Given the description of an element on the screen output the (x, y) to click on. 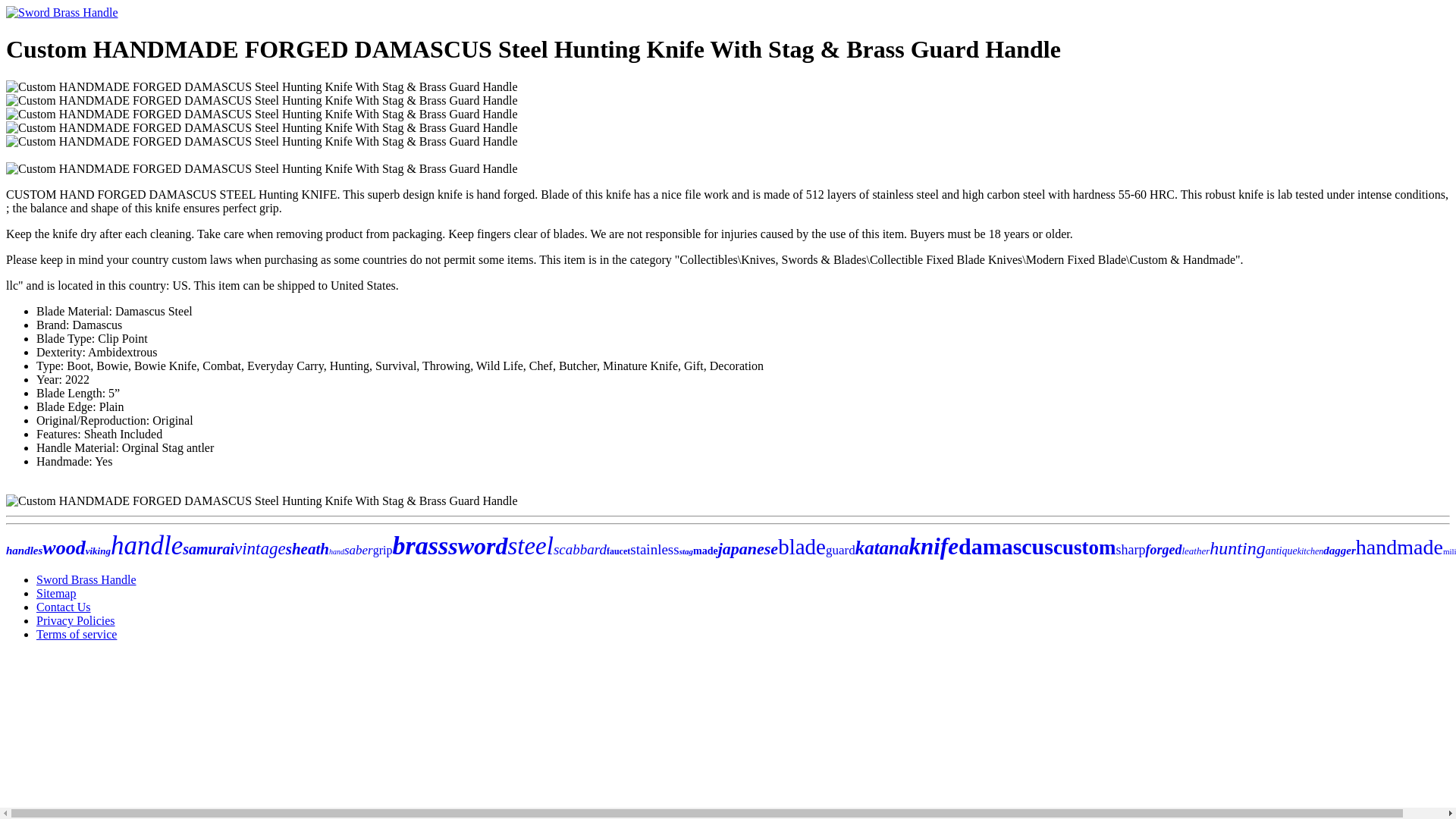
stainless (654, 549)
hand (336, 551)
knife (933, 546)
guard (840, 549)
samurai (208, 548)
forged (1162, 549)
handles (23, 550)
grip (382, 549)
wood (63, 547)
brass (419, 545)
custom (1084, 547)
katana (882, 547)
scabbard (580, 549)
viking (97, 550)
sword (477, 545)
